Given the description of an element on the screen output the (x, y) to click on. 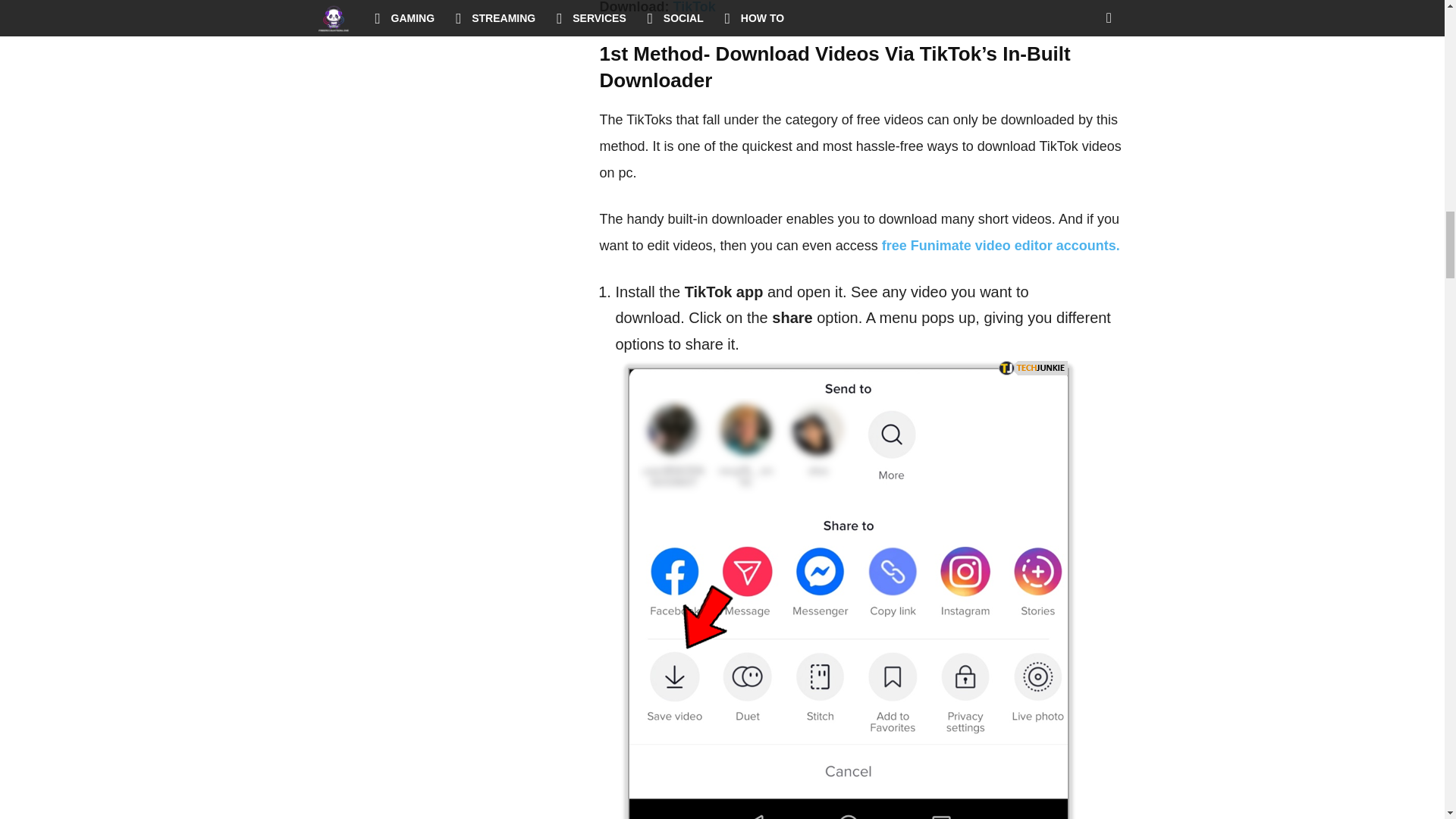
TikTok (694, 7)
free Funimate video editor accounts. (1000, 245)
